Given the description of an element on the screen output the (x, y) to click on. 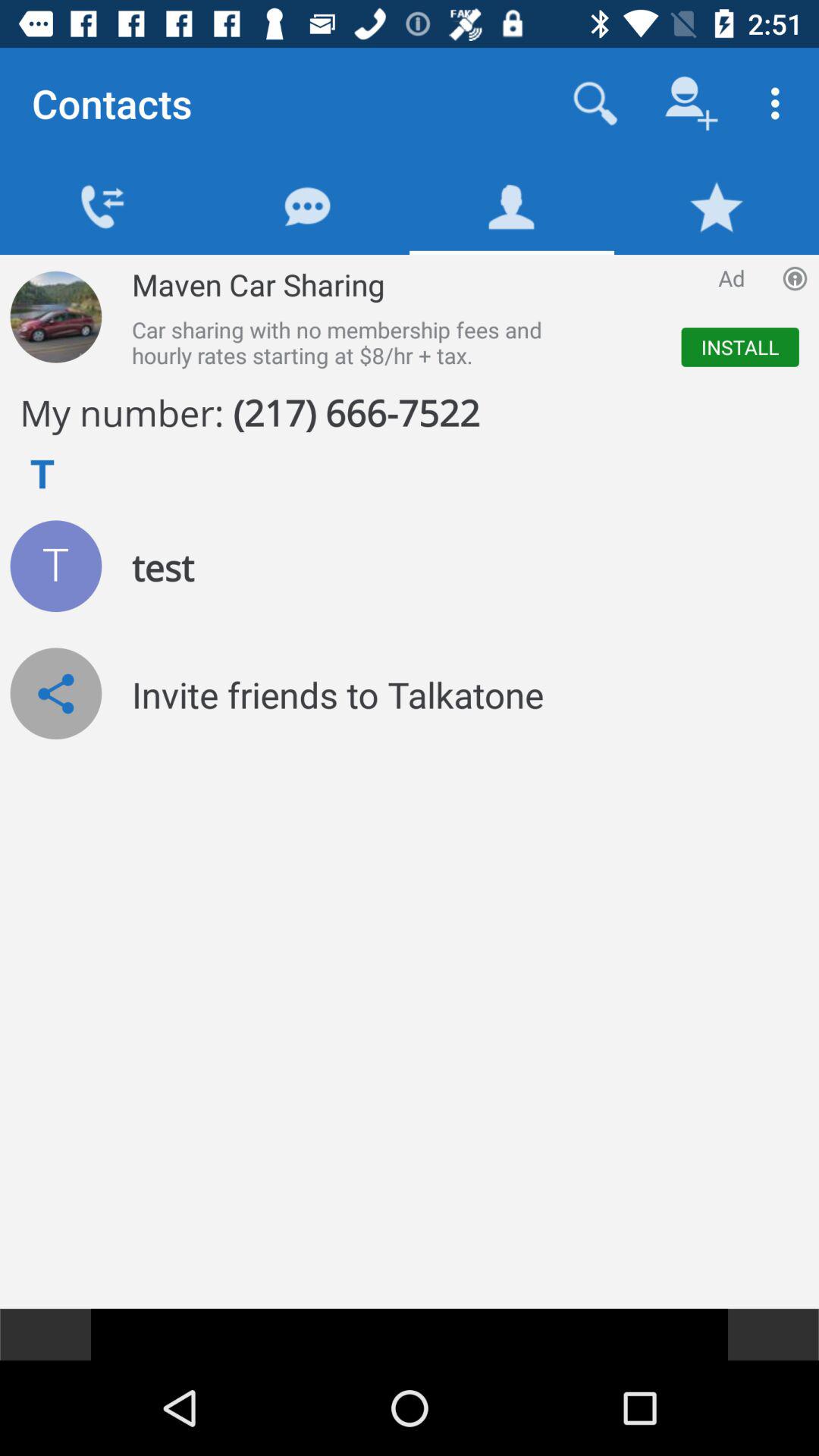
search for a contact (595, 103)
